Given the description of an element on the screen output the (x, y) to click on. 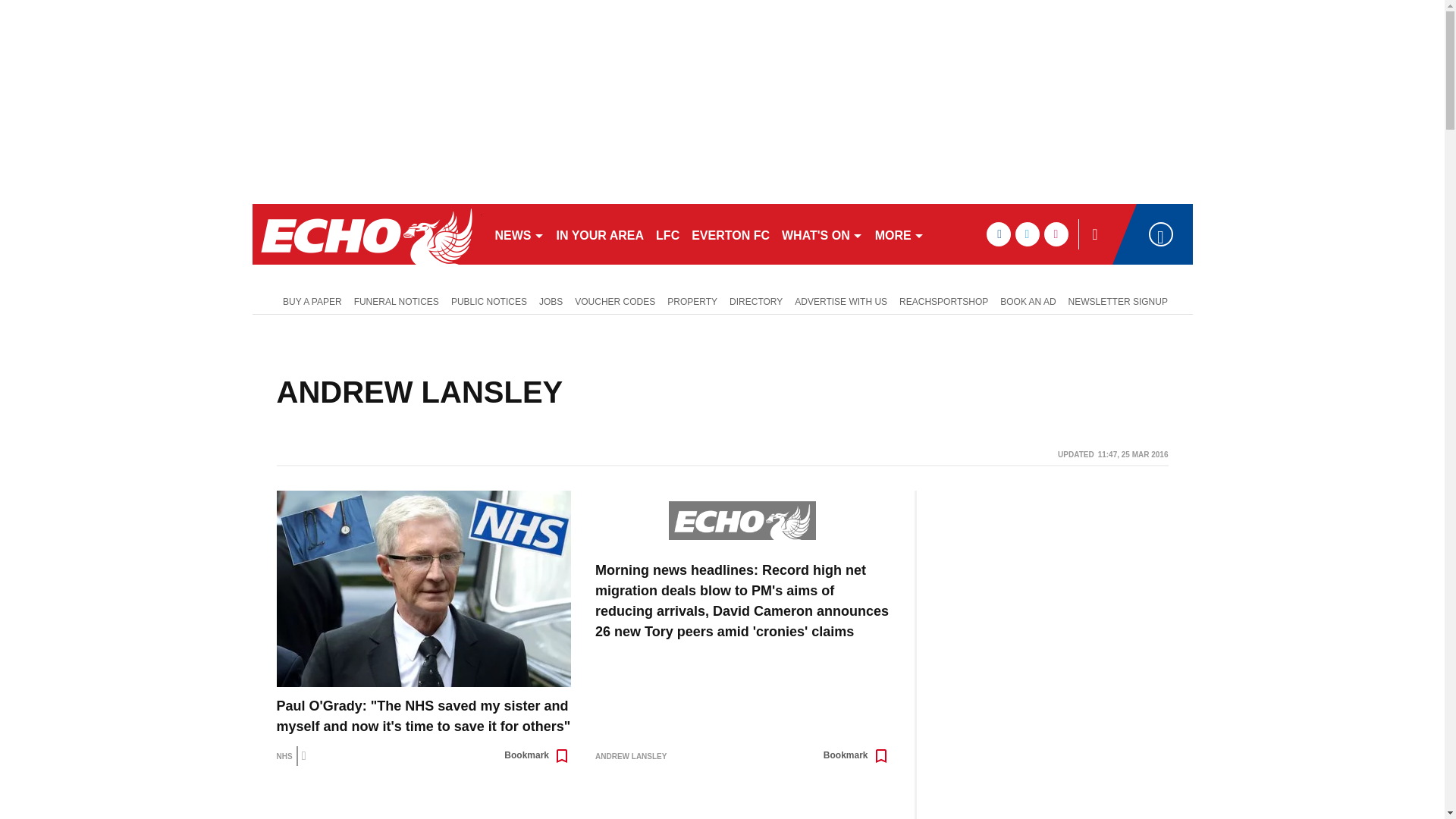
twitter (1026, 233)
MORE (899, 233)
liverpoolecho (365, 233)
instagram (1055, 233)
EVERTON FC (730, 233)
NEWS (518, 233)
IN YOUR AREA (600, 233)
WHAT'S ON (822, 233)
facebook (997, 233)
